Given the description of an element on the screen output the (x, y) to click on. 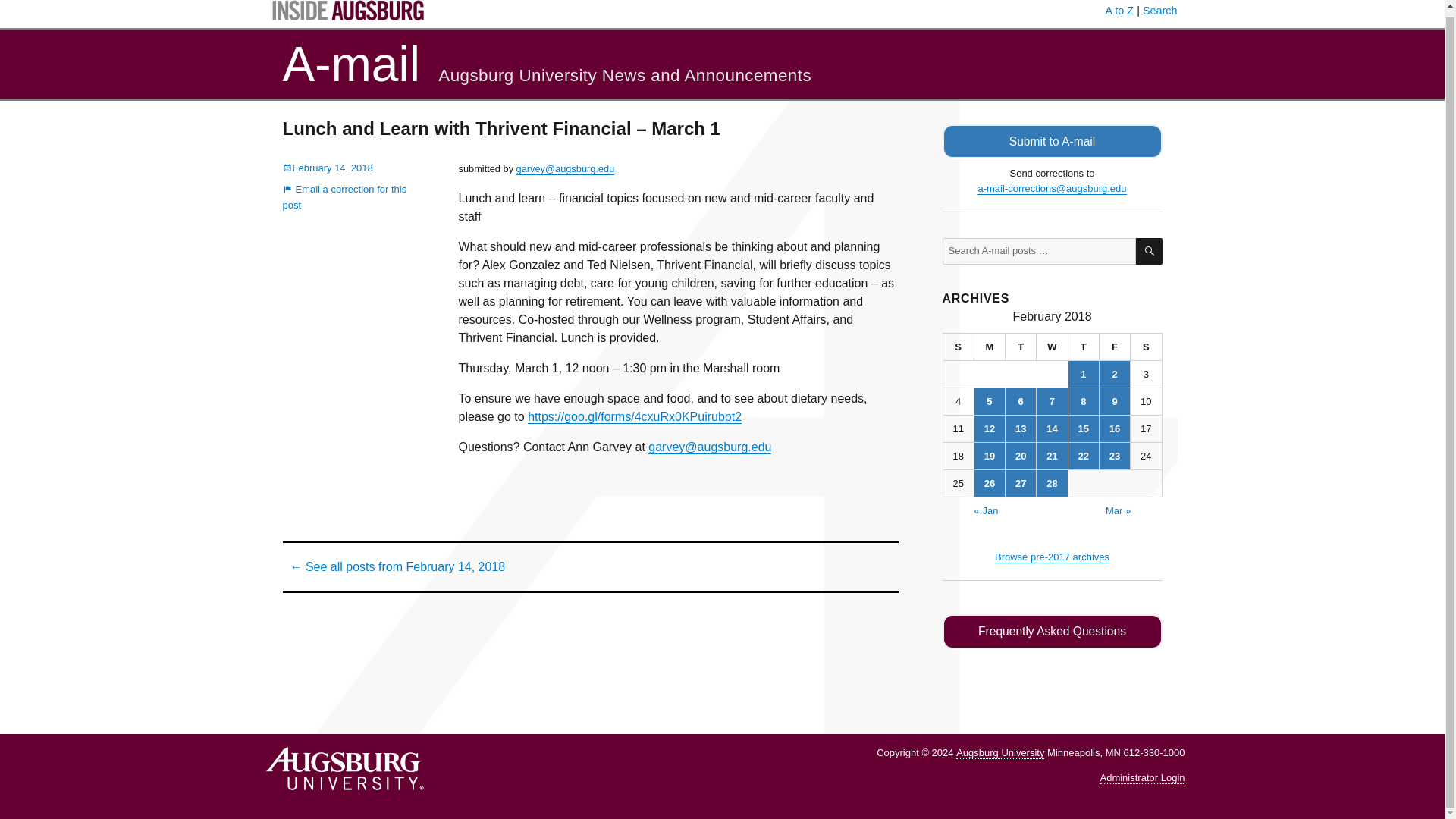
16 (1114, 428)
Sunday (958, 347)
Augsburg University (999, 752)
Search (1159, 10)
Frequently Asked Questions (1051, 631)
2 (1114, 374)
21 (1051, 456)
5 (989, 401)
Browse pre-2017 archives (1051, 556)
A-mail (350, 63)
26 (989, 483)
1 (1083, 374)
7 (1051, 401)
12 (989, 428)
13 (1020, 428)
